Given the description of an element on the screen output the (x, y) to click on. 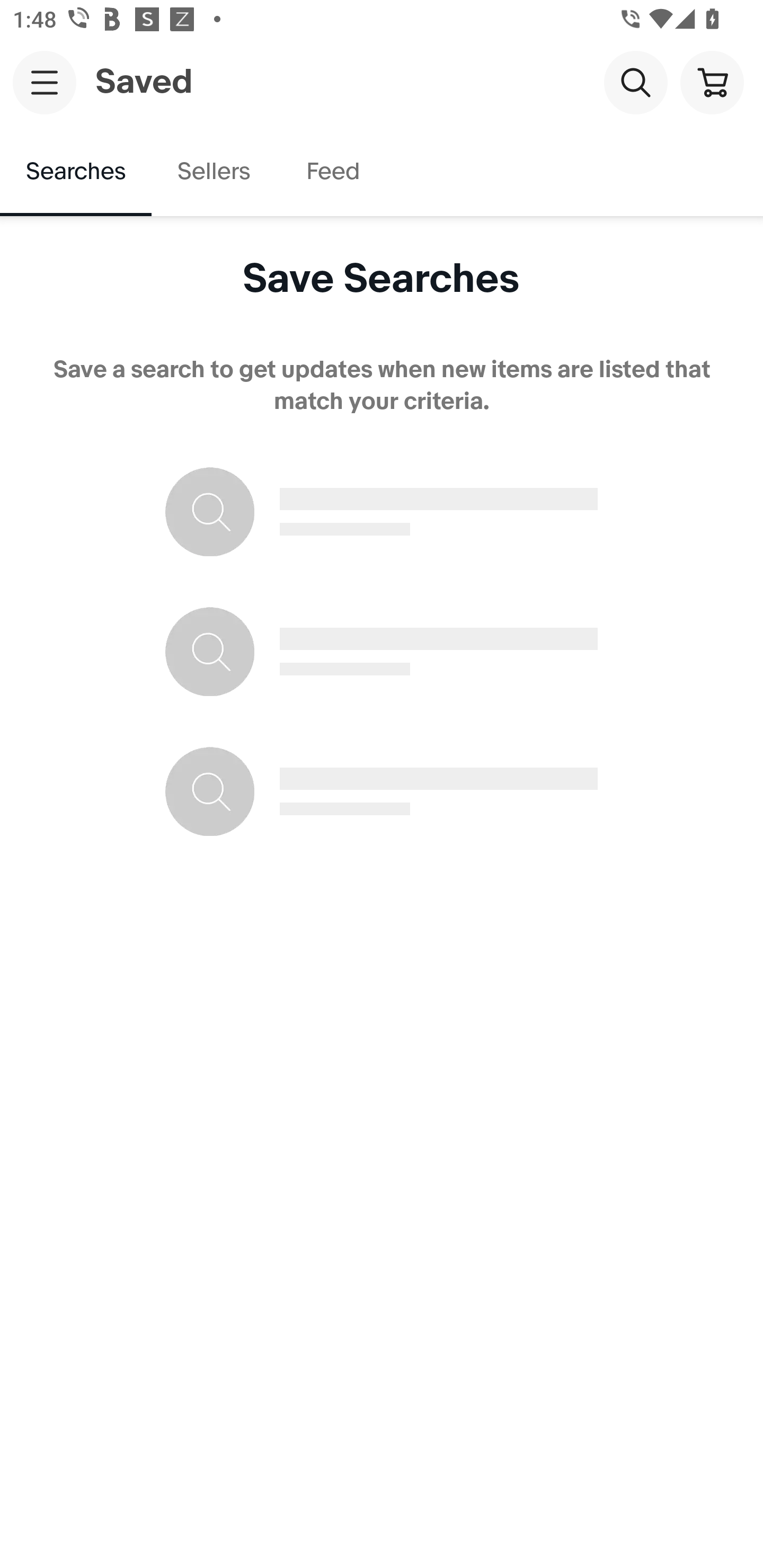
Main navigation, open (44, 82)
Search (635, 81)
Cart button shopping cart (711, 81)
Sellers (213, 171)
Feed (332, 171)
